Given the description of an element on the screen output the (x, y) to click on. 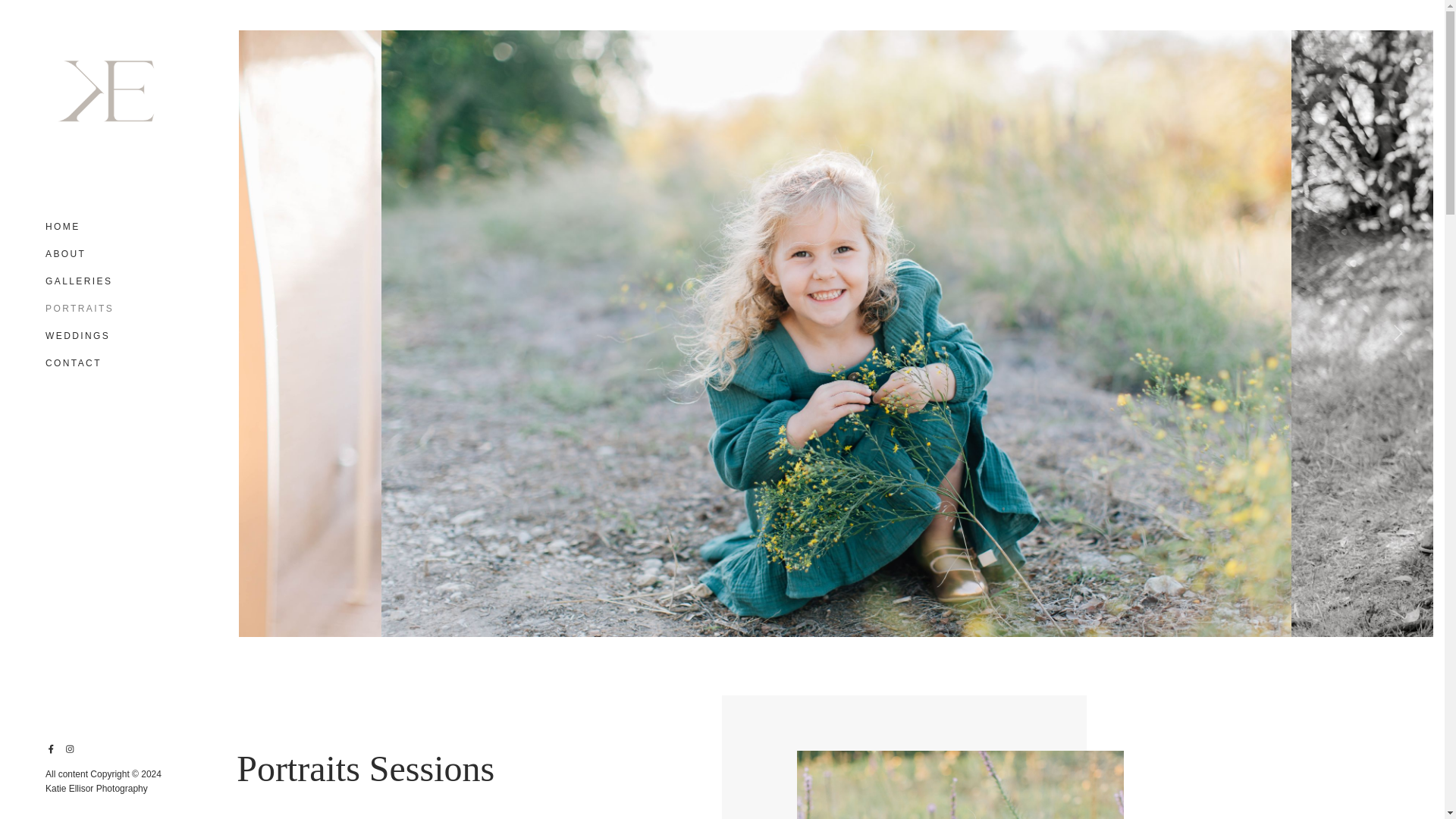
CONTACT (73, 359)
GALLERIES (78, 281)
WEDDINGS (77, 335)
HOME (62, 230)
PORTRAITS (79, 308)
ABOUT (65, 253)
